Given the description of an element on the screen output the (x, y) to click on. 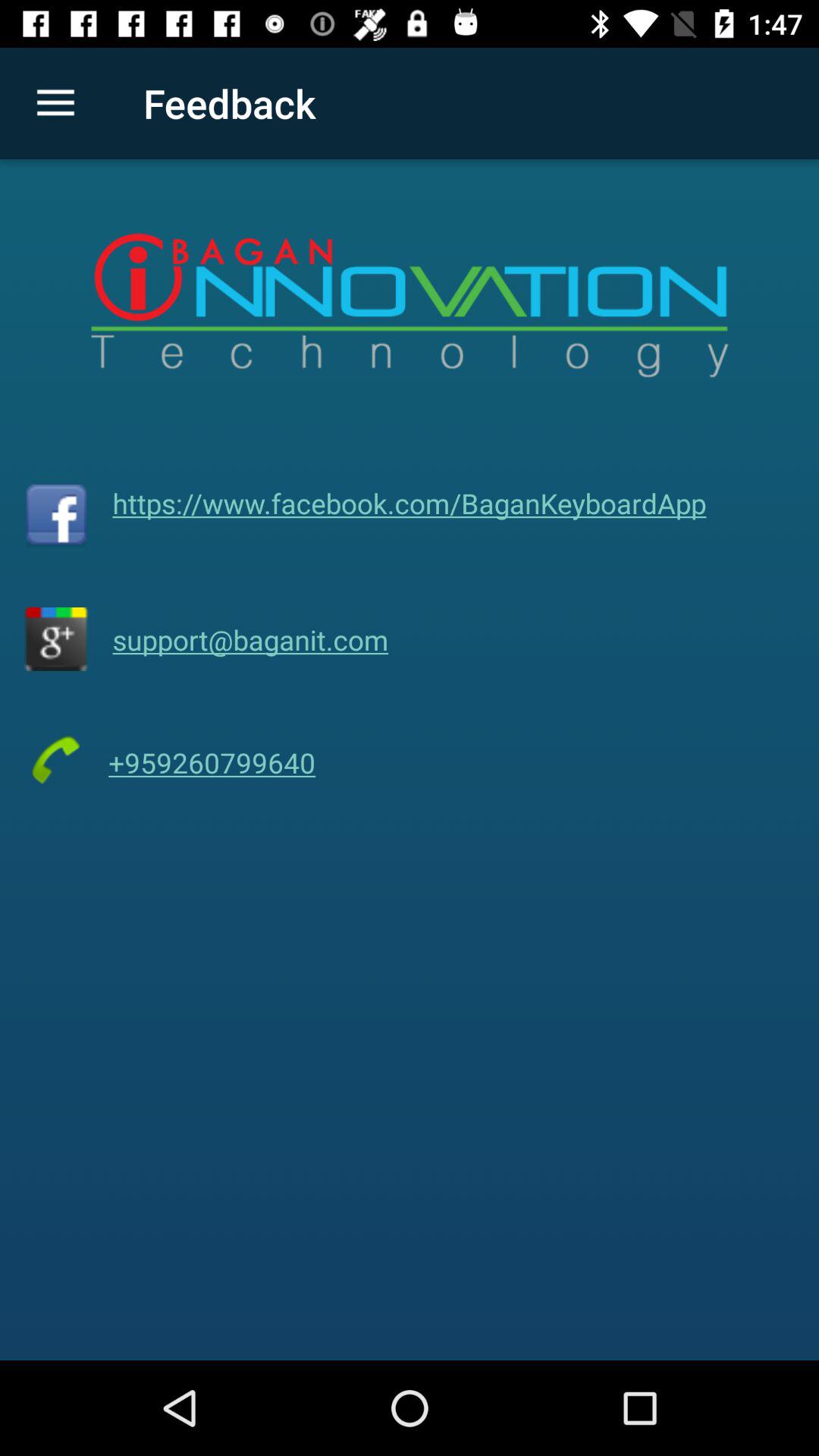
flip until the https www facebook icon (409, 503)
